Given the description of an element on the screen output the (x, y) to click on. 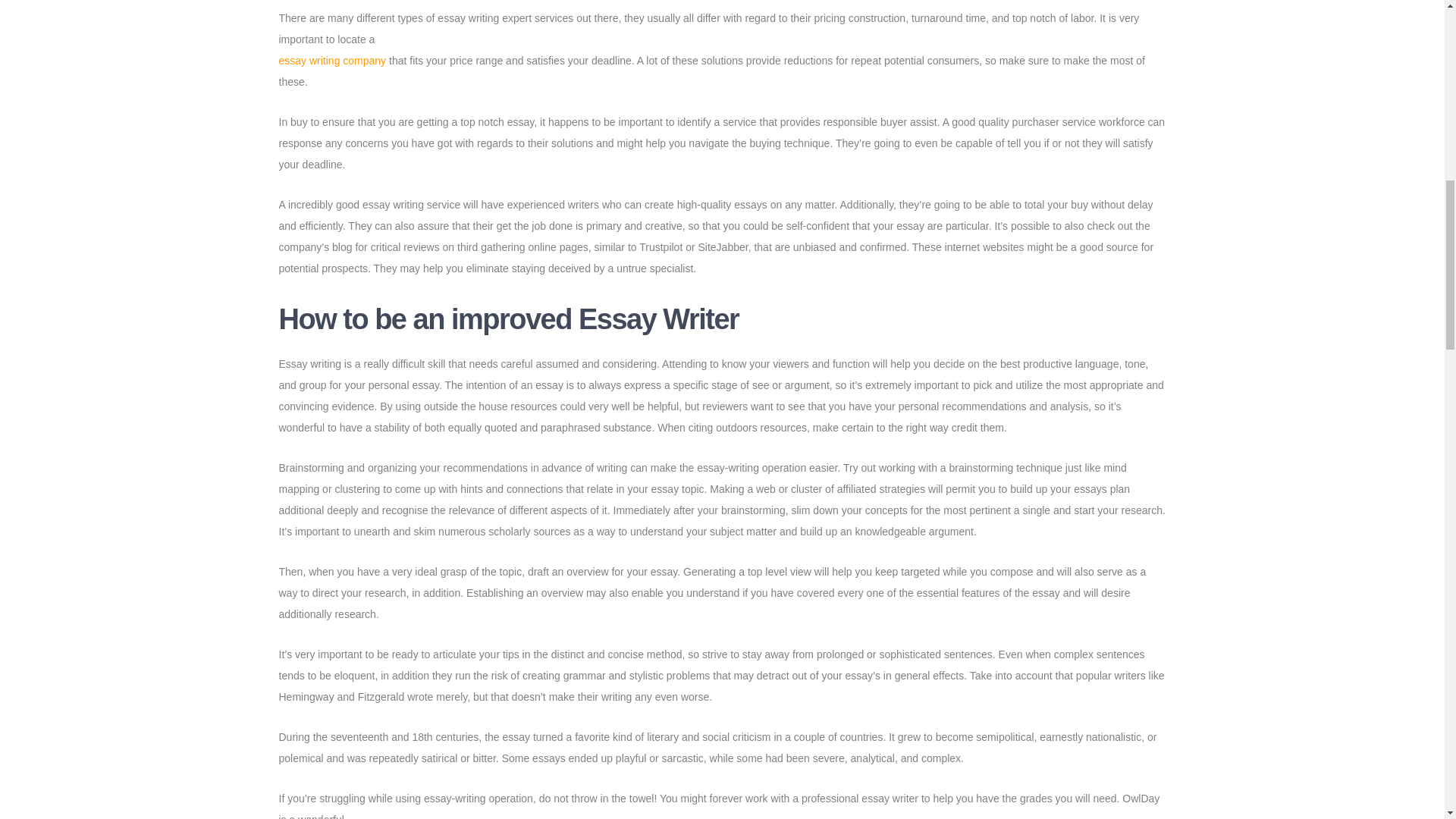
essay writing company (333, 60)
